Given the description of an element on the screen output the (x, y) to click on. 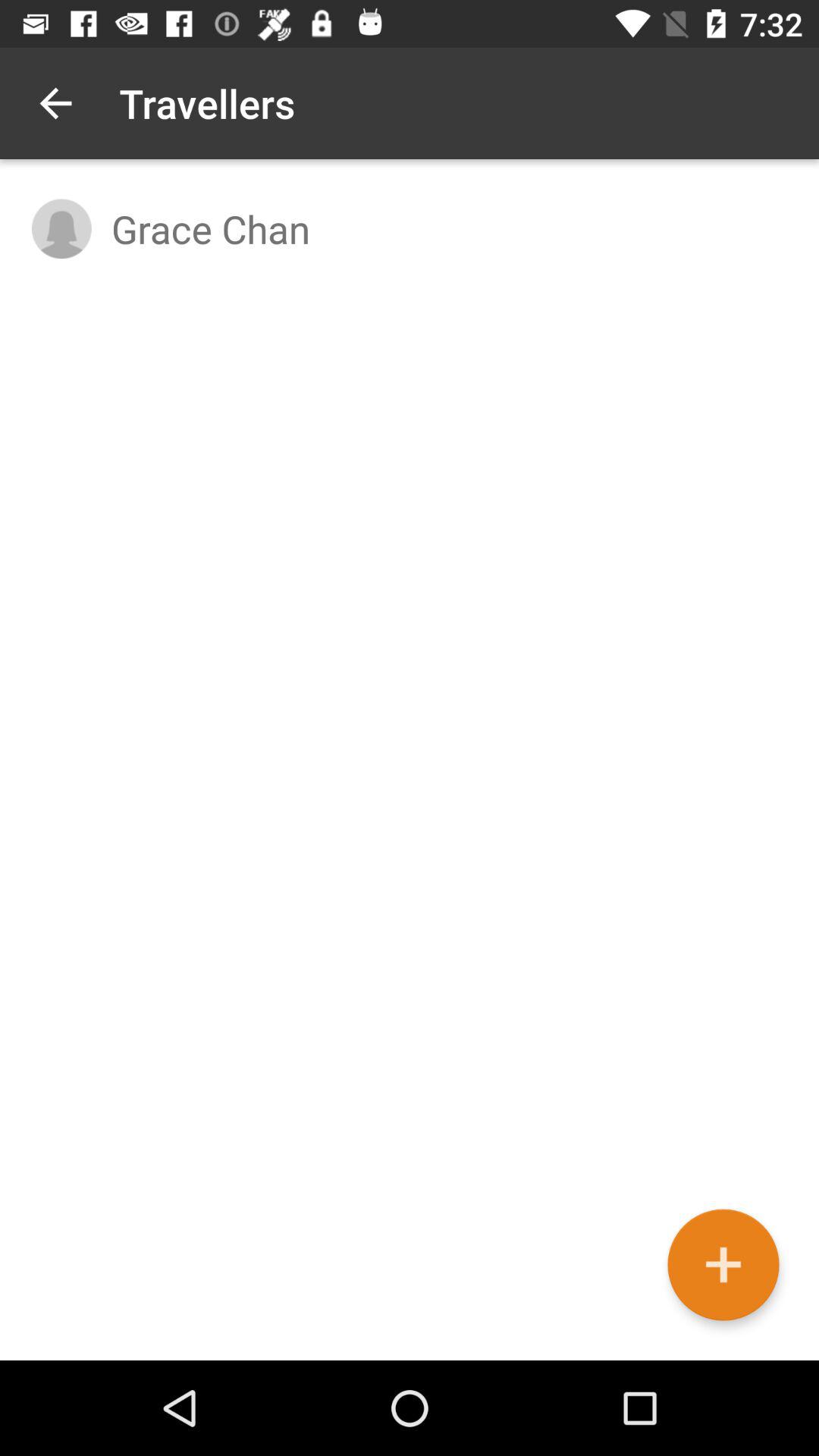
select the icon next to the travellers item (55, 103)
